Given the description of an element on the screen output the (x, y) to click on. 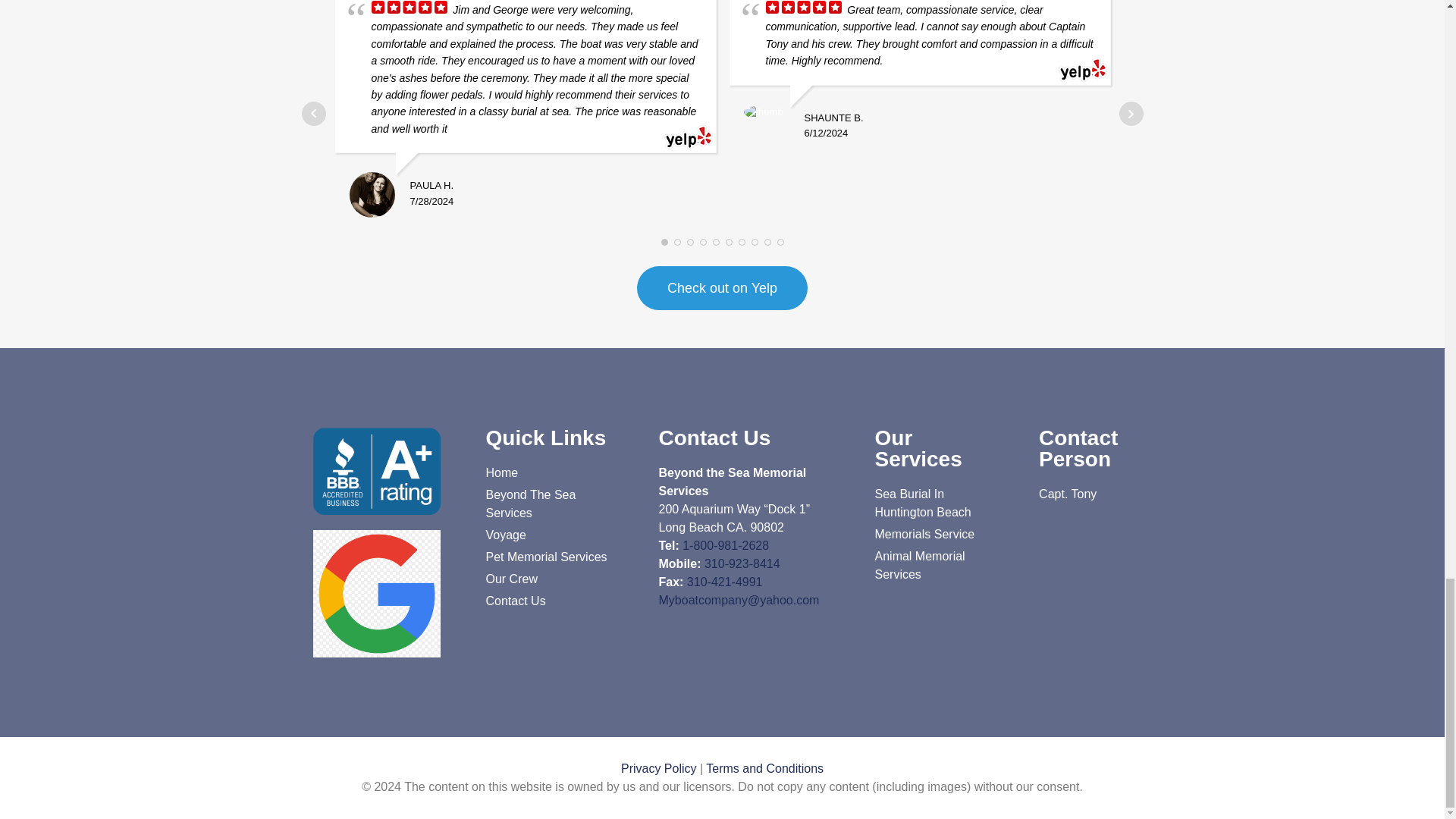
Logo-google-icon-PNG (376, 593)
